Given the description of an element on the screen output the (x, y) to click on. 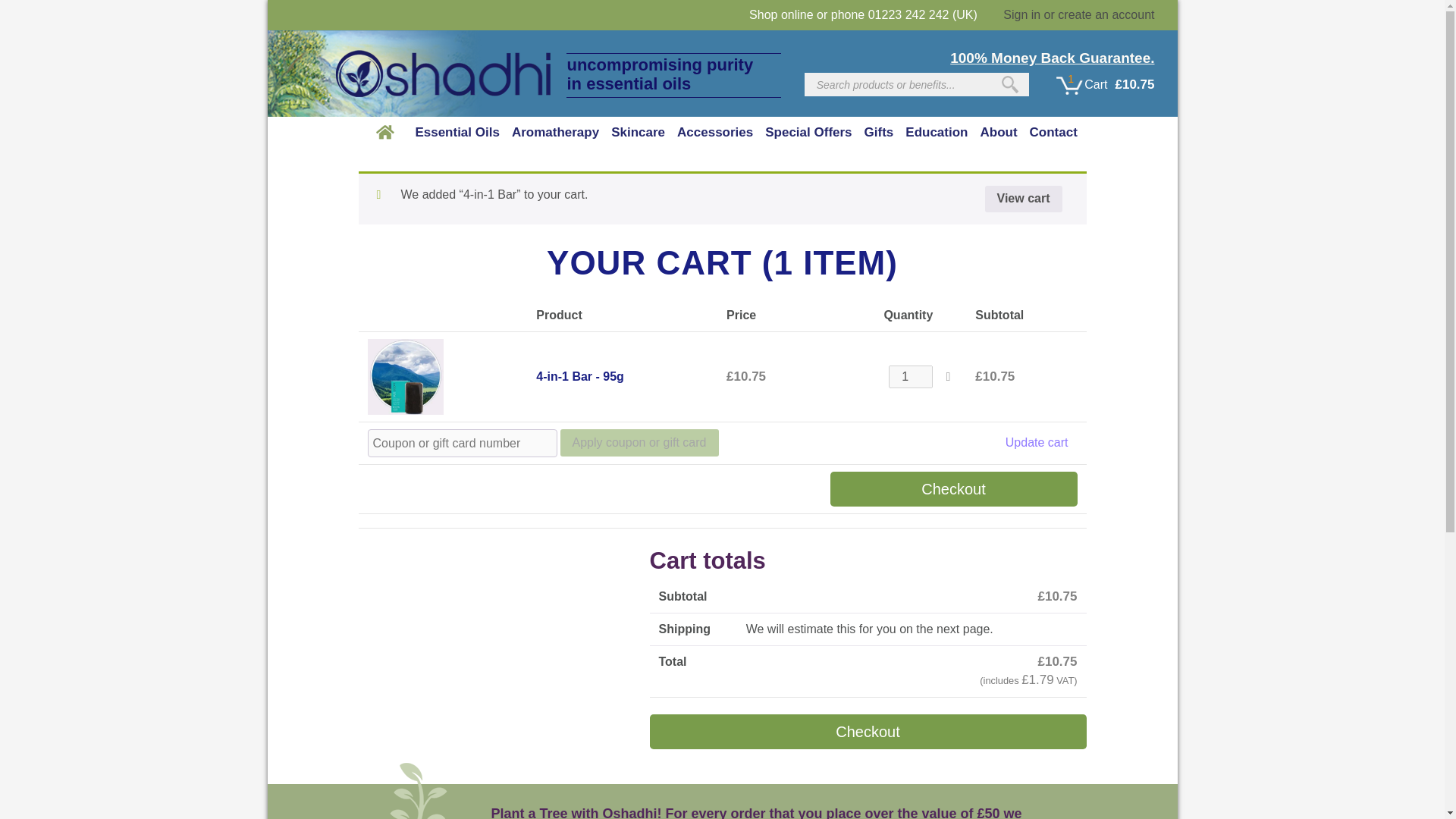
Home (385, 132)
Accessories (714, 132)
1 (910, 376)
Aromatherapy (555, 132)
Aromatherapy (555, 132)
Education (936, 132)
Essential Oils (457, 132)
SEARCH (1010, 84)
Skincare (638, 132)
Sign in (1022, 14)
Skincare (638, 132)
create an account (1106, 14)
Home (385, 132)
About (998, 132)
Essential Oils (457, 132)
